Given the description of an element on the screen output the (x, y) to click on. 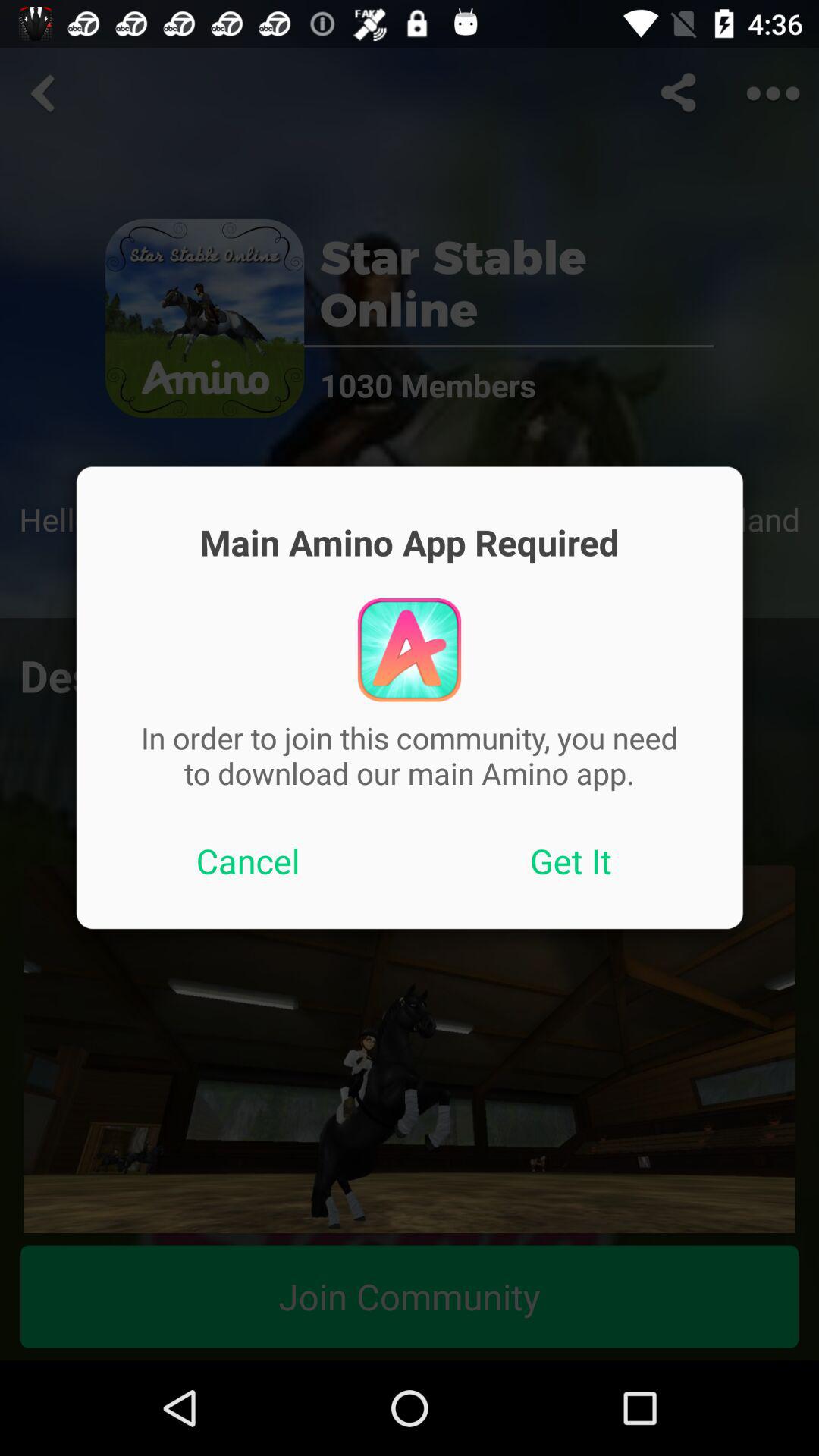
press the cancel item (247, 860)
